Given the description of an element on the screen output the (x, y) to click on. 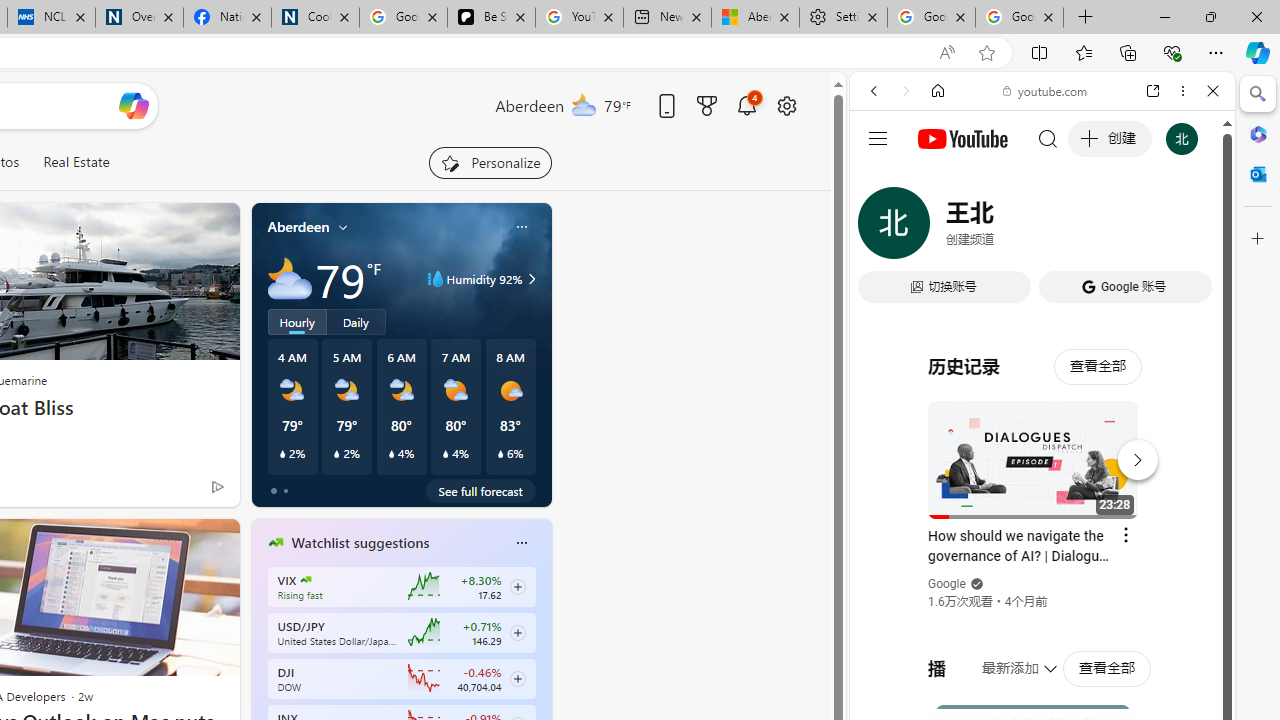
Microsoft rewards (707, 105)
Music (1042, 543)
Preferences (1189, 228)
Ad Choice (217, 485)
#you (1042, 445)
Open link in new tab (1153, 91)
Search Filter, WEB (882, 228)
